Given the description of an element on the screen output the (x, y) to click on. 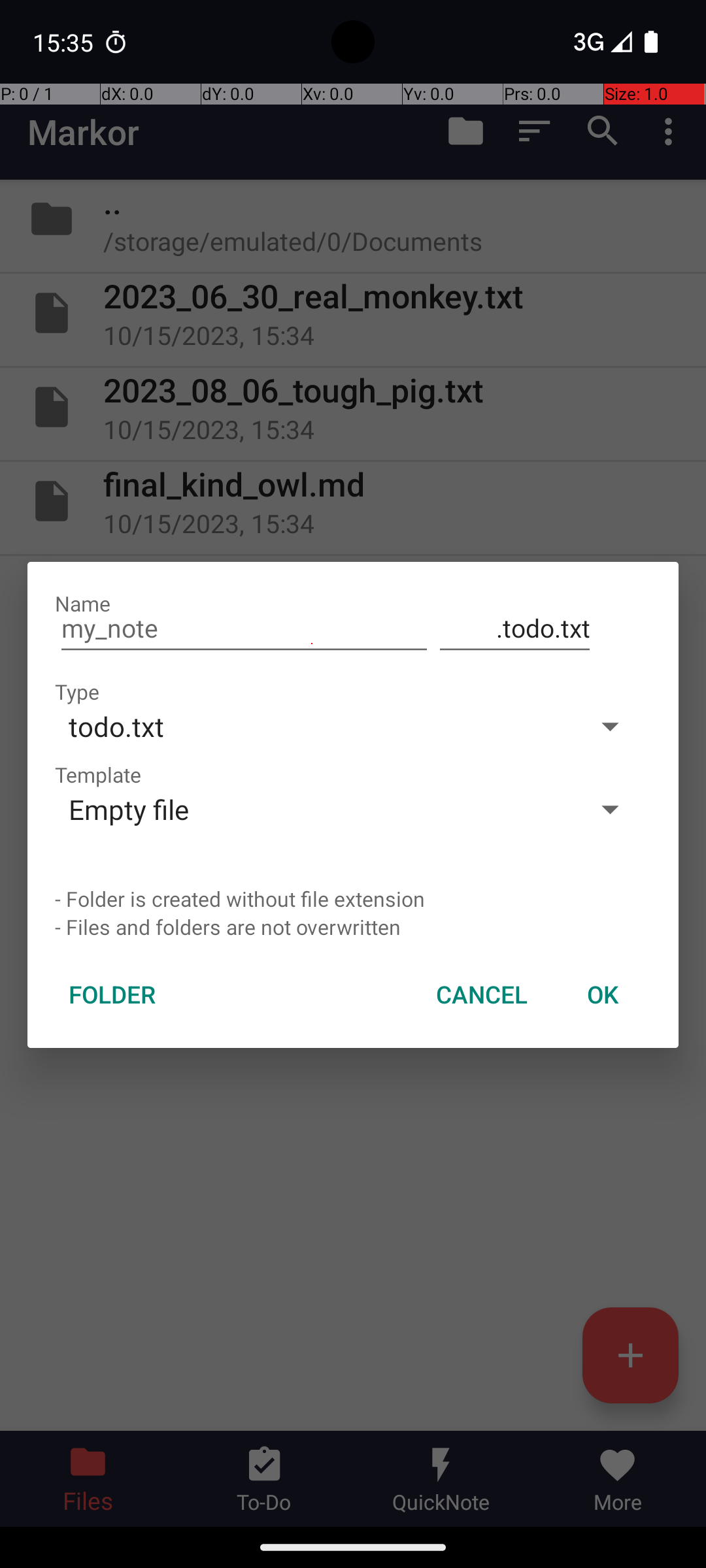
.todo.txt Element type: android.widget.EditText (514, 628)
